Given the description of an element on the screen output the (x, y) to click on. 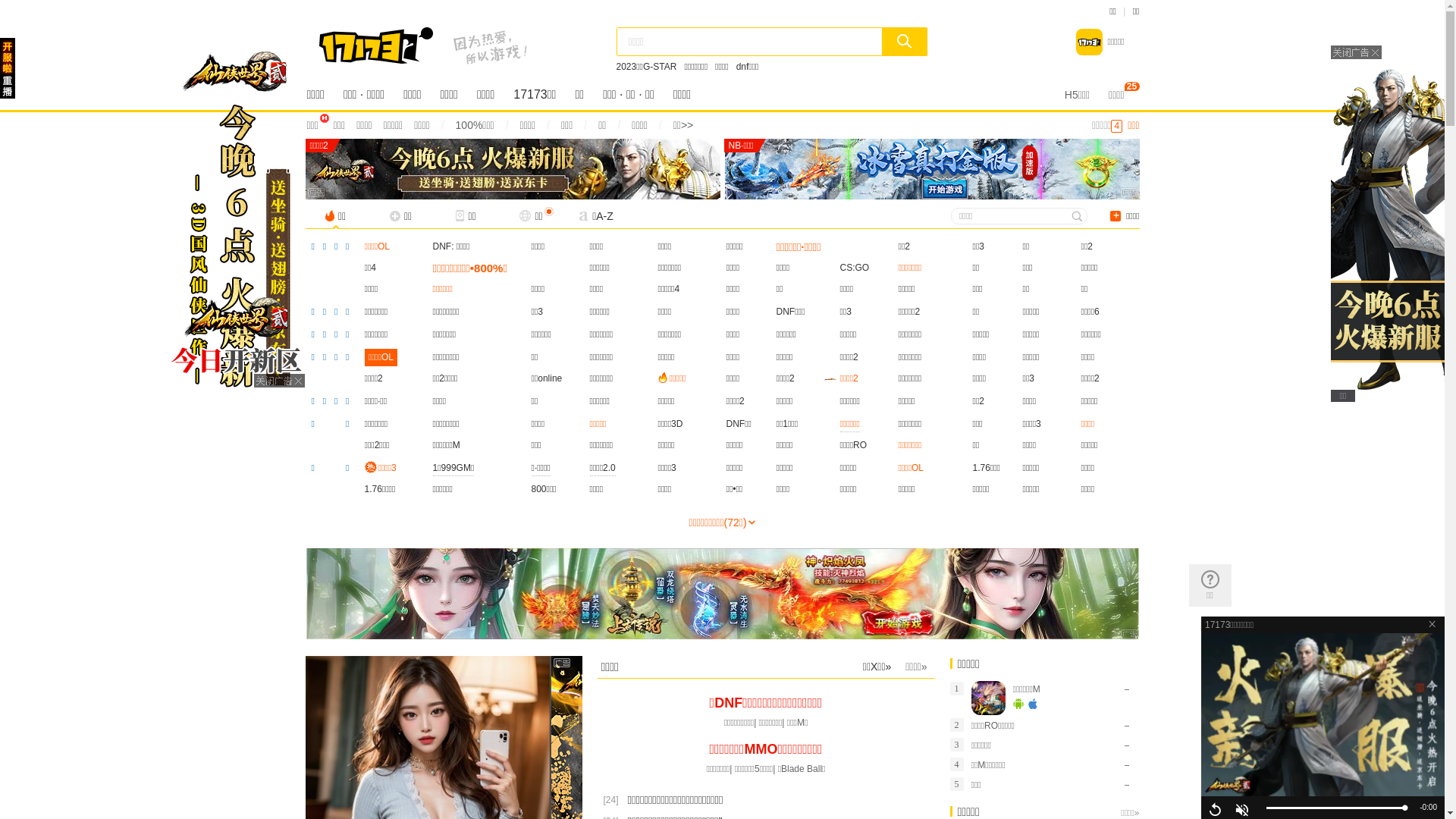
CS:GO Element type: text (854, 267)
